Given the description of an element on the screen output the (x, y) to click on. 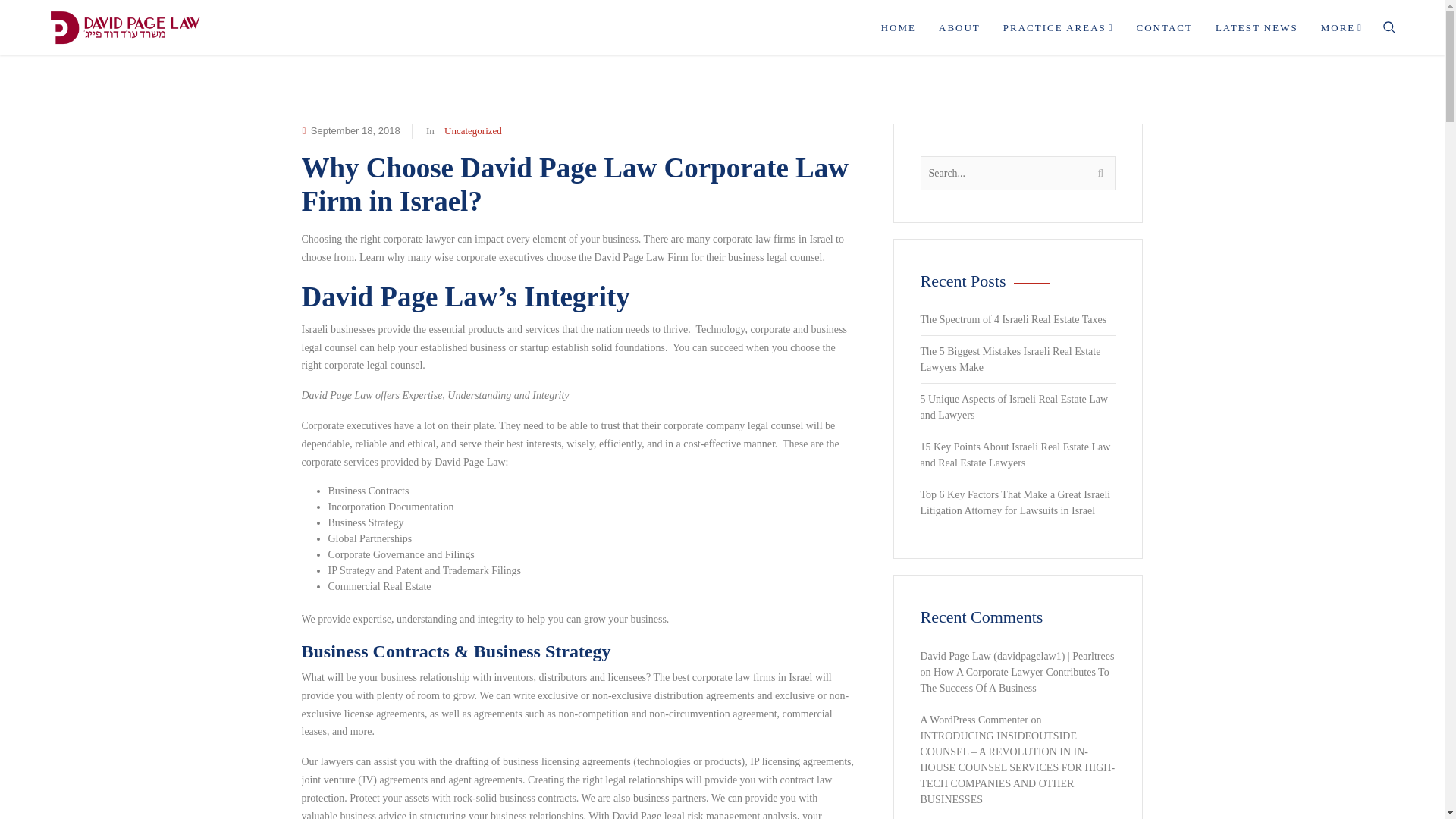
CONTACT (1164, 27)
PRACTICE AREAS (1058, 27)
LATEST NEWS (1256, 27)
MORE (1342, 27)
Why Choose David Page Law Corporate Law Firm in Israel? (574, 183)
Uncategorized (473, 130)
ABOUT (959, 27)
